Given the description of an element on the screen output the (x, y) to click on. 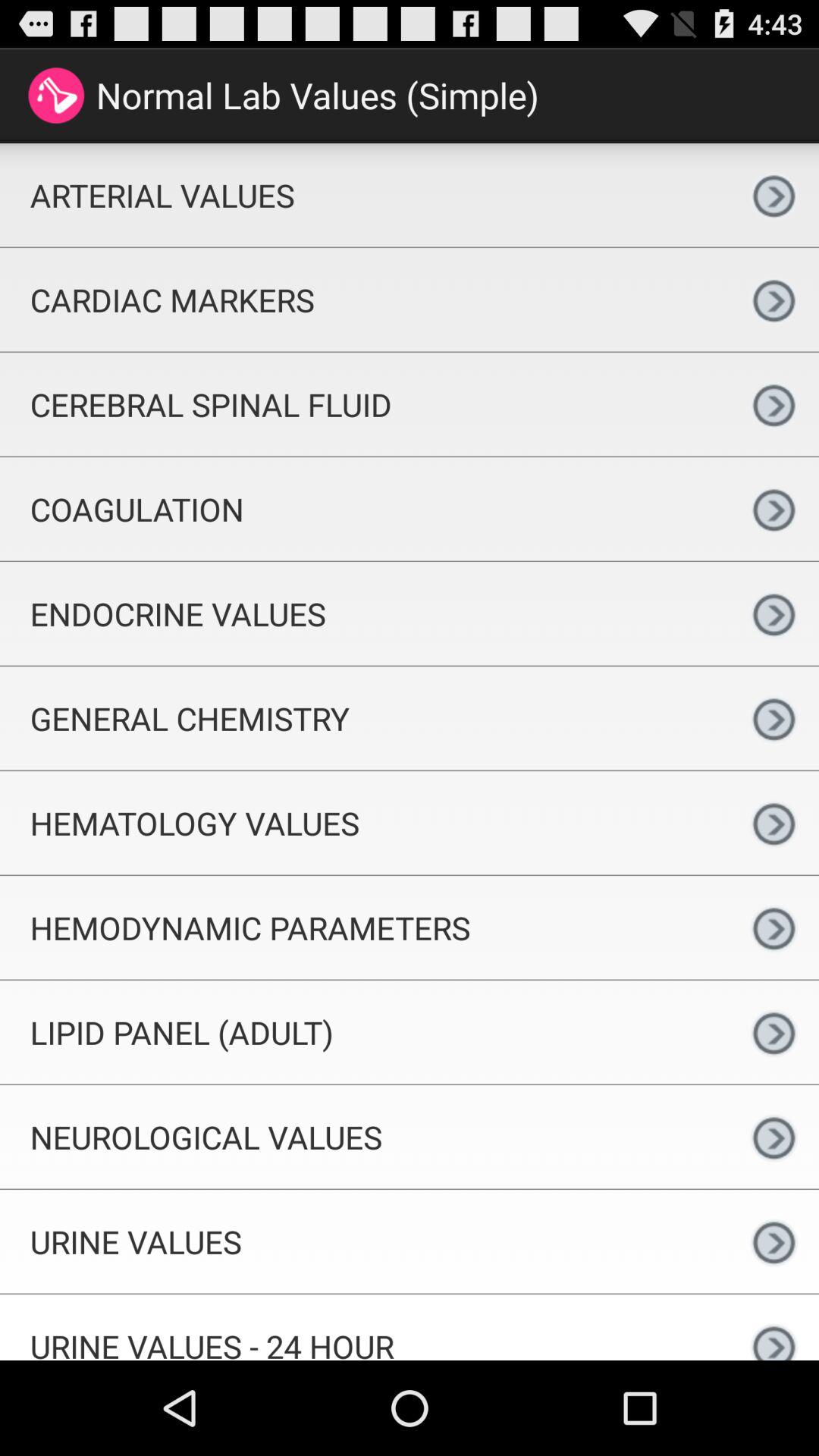
tap item above coagulation app (364, 404)
